Given the description of an element on the screen output the (x, y) to click on. 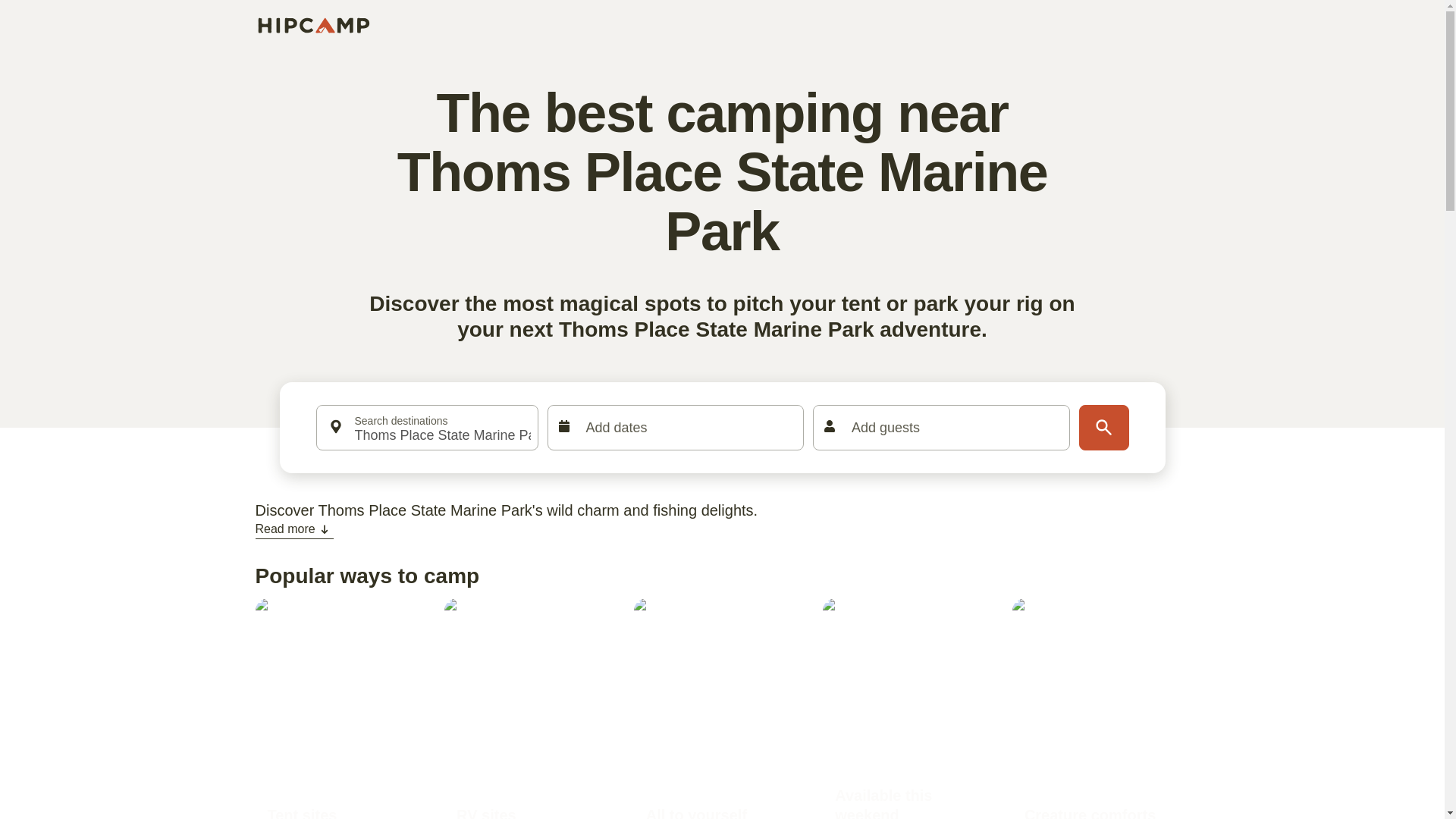
Add dates (676, 427)
Thoms Place State Marine Park (443, 434)
Read more (293, 529)
Add guests (941, 427)
Search destinations (426, 427)
